Given the description of an element on the screen output the (x, y) to click on. 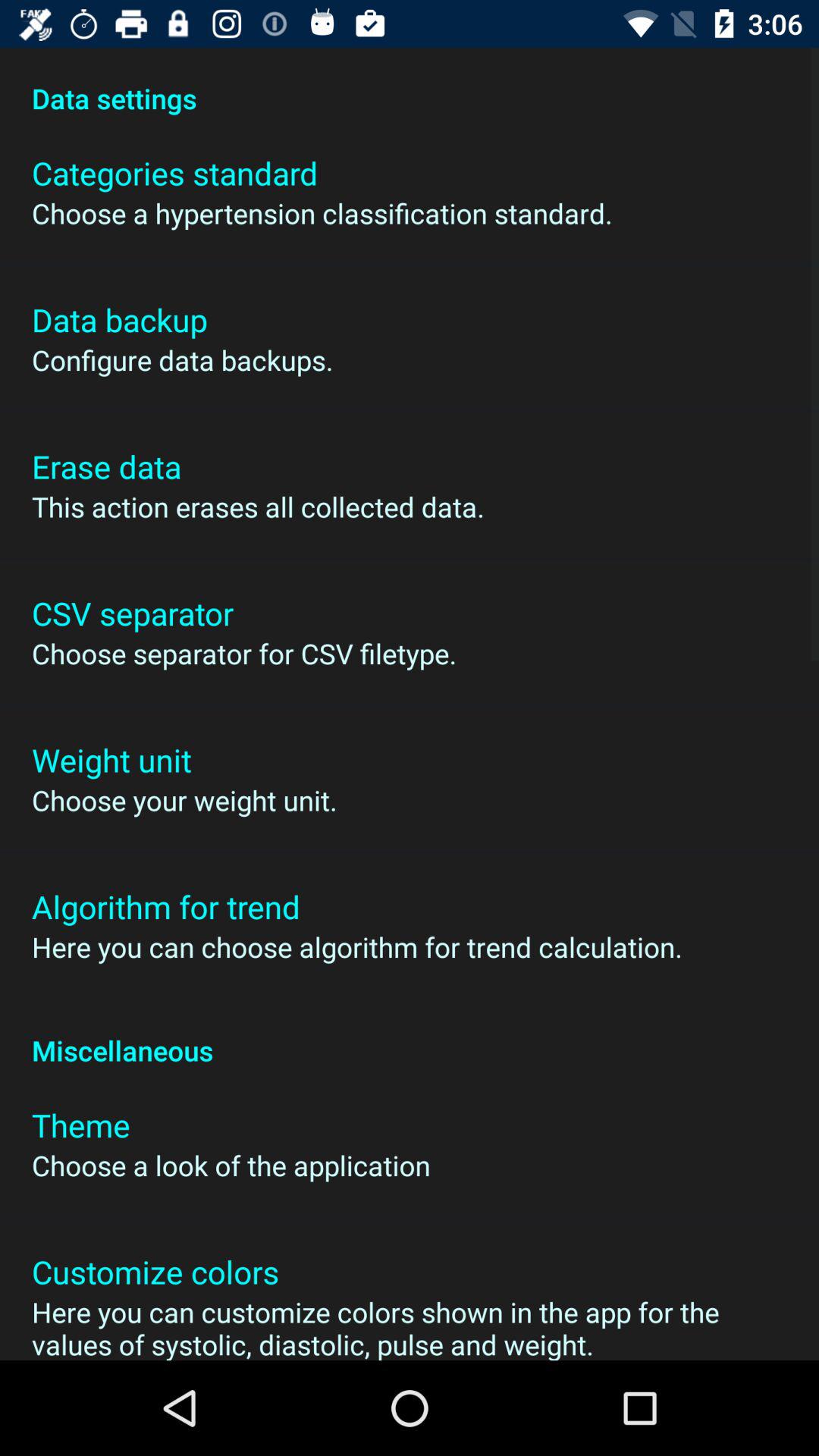
choose icon above the csv separator app (257, 506)
